Given the description of an element on the screen output the (x, y) to click on. 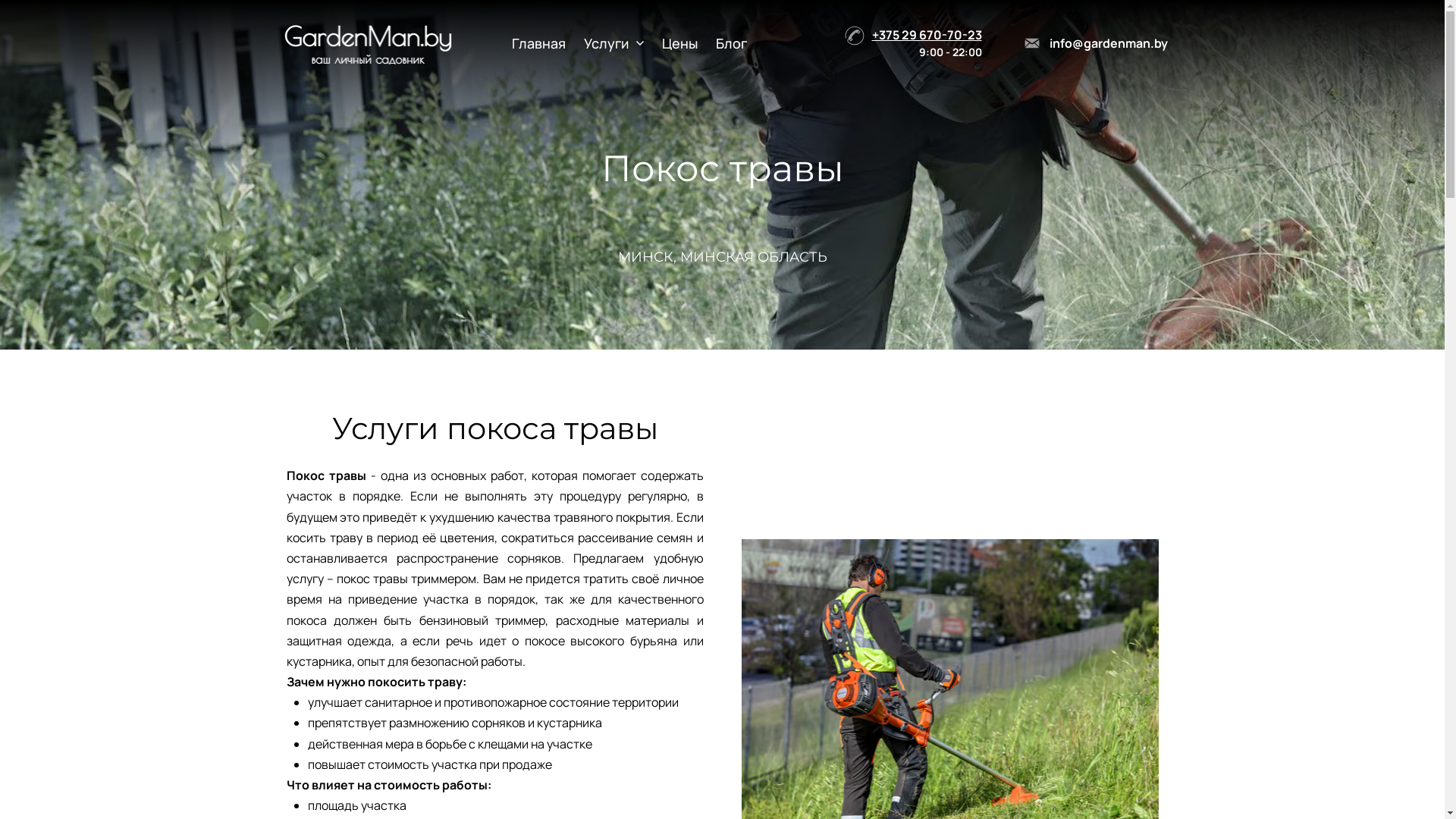
+375 29 670-70-23 Element type: text (927, 34)
